Given the description of an element on the screen output the (x, y) to click on. 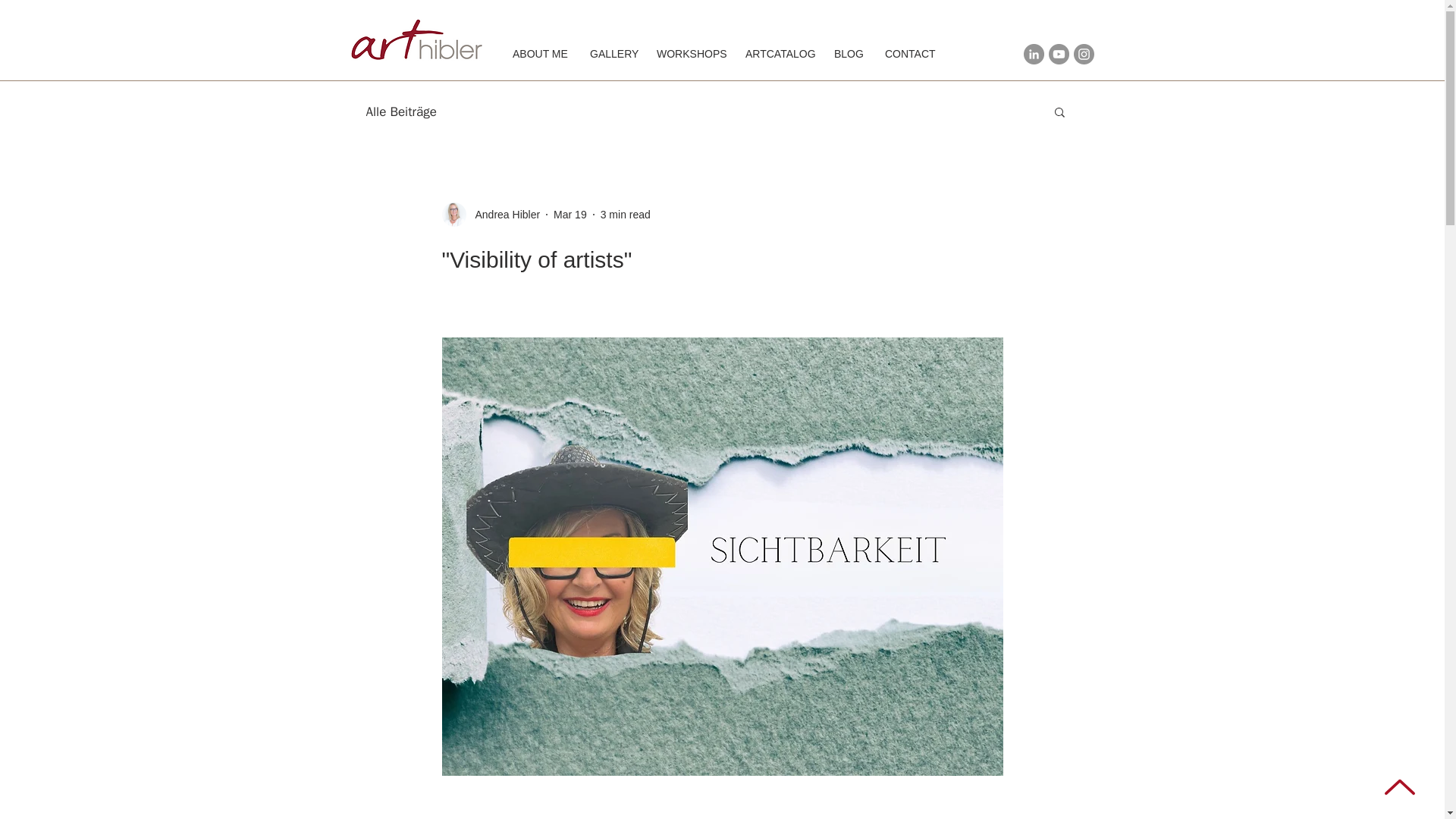
Andrea Hibler (490, 214)
ARTCATALOG (777, 54)
Andrea Hibler (502, 213)
WORKSHOPS (689, 54)
Mar 19 (569, 214)
CONTACT (908, 54)
3 min read (624, 214)
ABOUT ME (539, 54)
GALLERY (611, 54)
BLOG (847, 54)
